Given the description of an element on the screen output the (x, y) to click on. 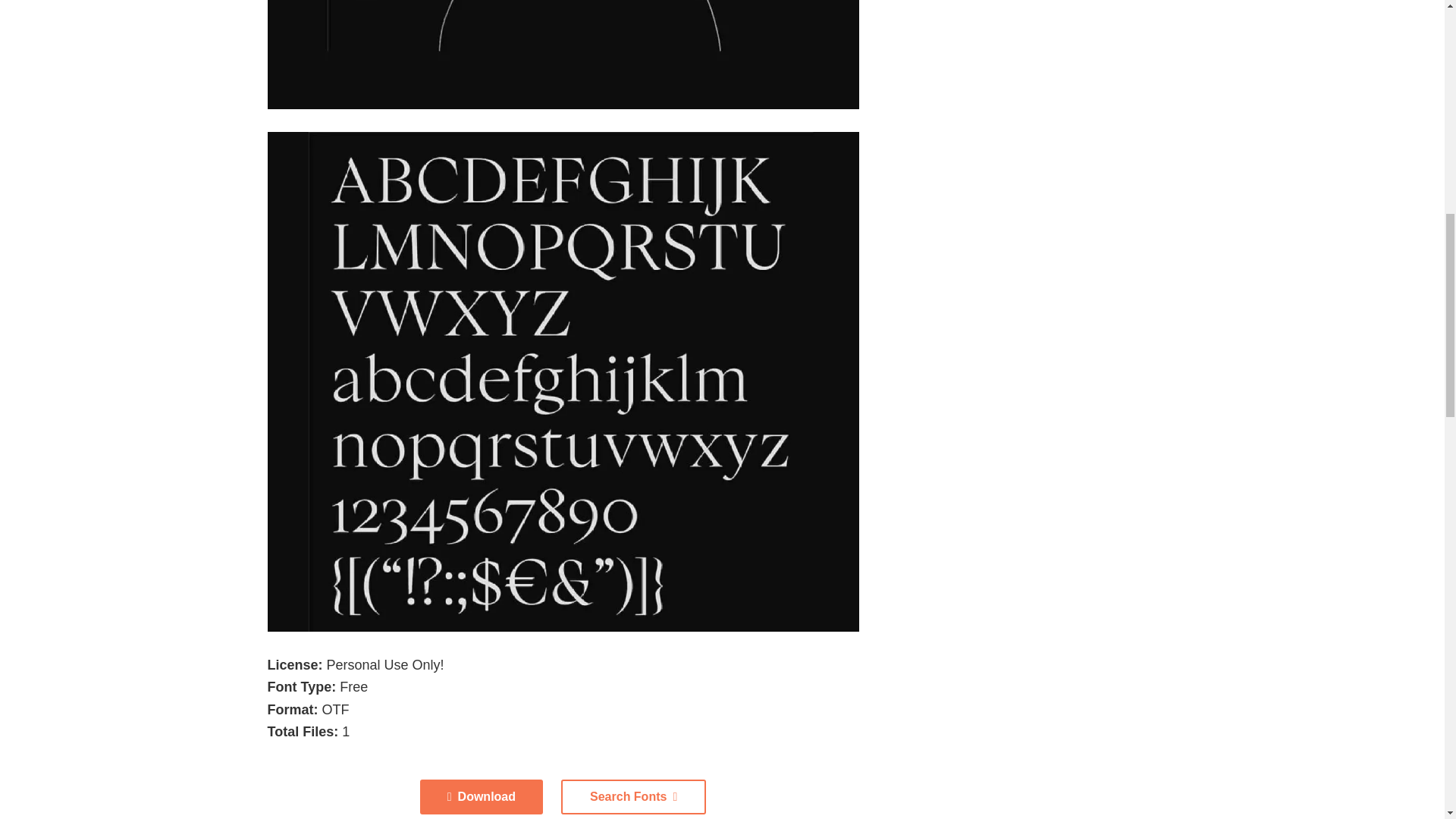
Download (481, 796)
Search Fonts (633, 796)
